Given the description of an element on the screen output the (x, y) to click on. 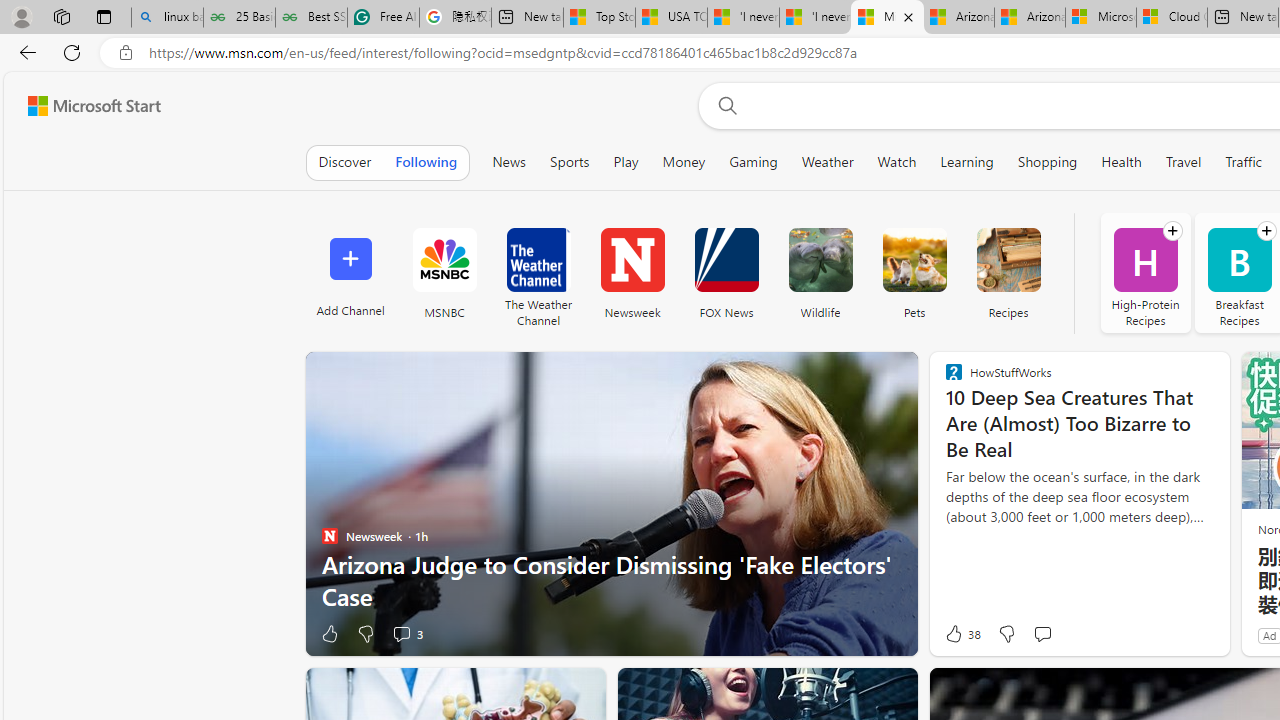
Newsweek (632, 260)
Shopping (1047, 162)
Newsweek (632, 272)
Gaming (753, 161)
View comments 3 Comment (406, 633)
